Given the description of an element on the screen output the (x, y) to click on. 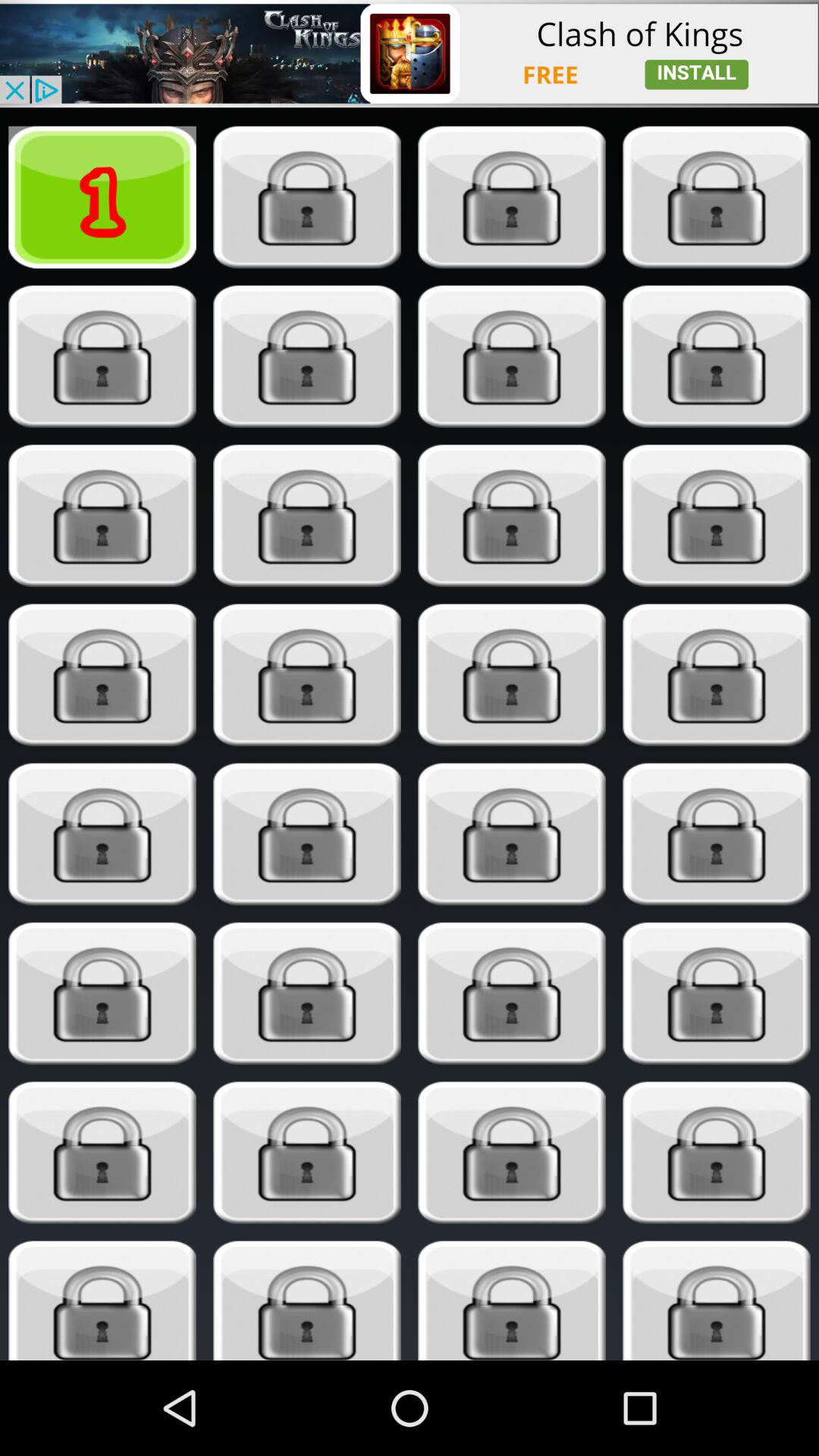
unlock content (511, 993)
